Given the description of an element on the screen output the (x, y) to click on. 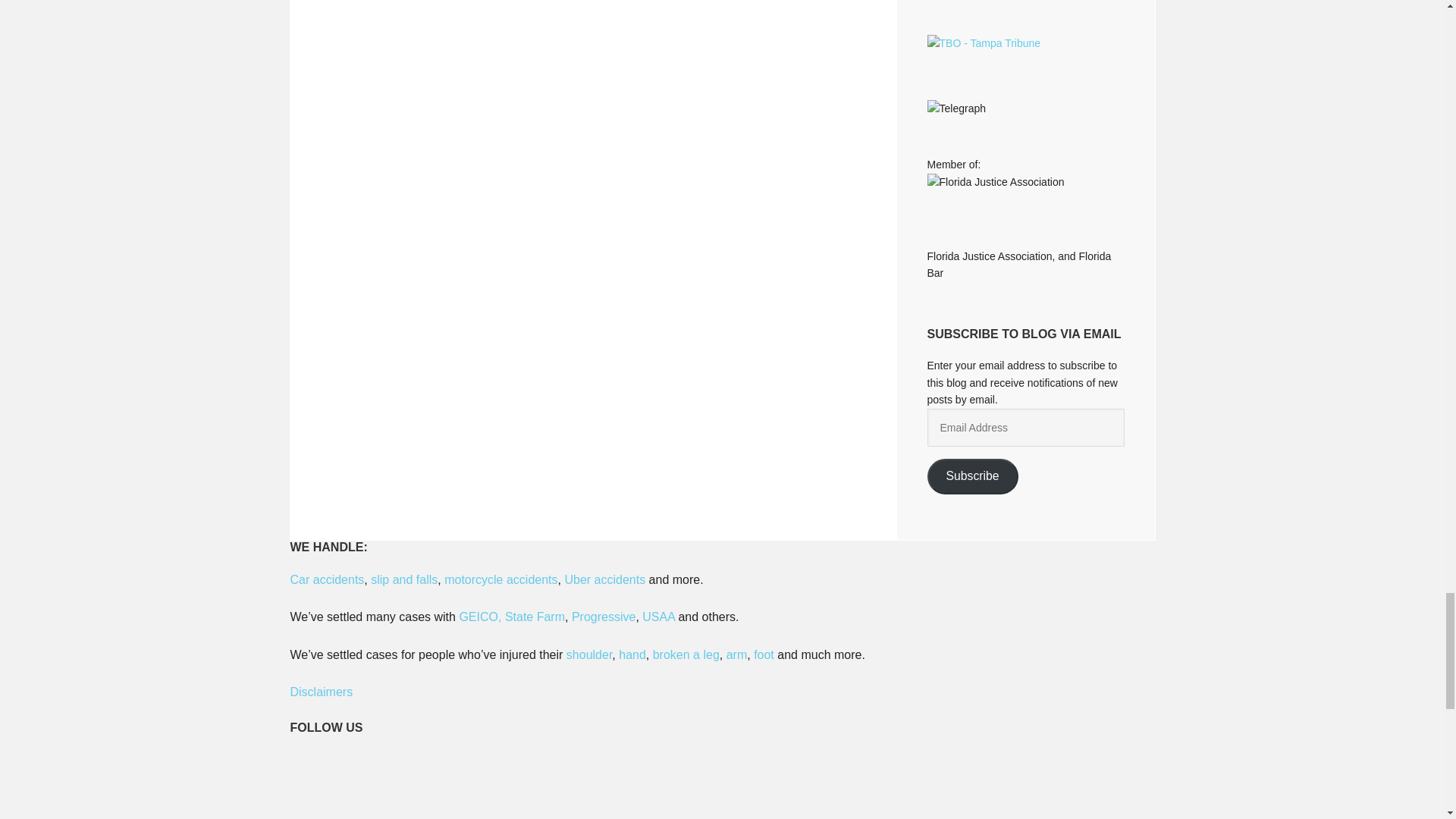
Facebook (407, 785)
